Given the description of an element on the screen output the (x, y) to click on. 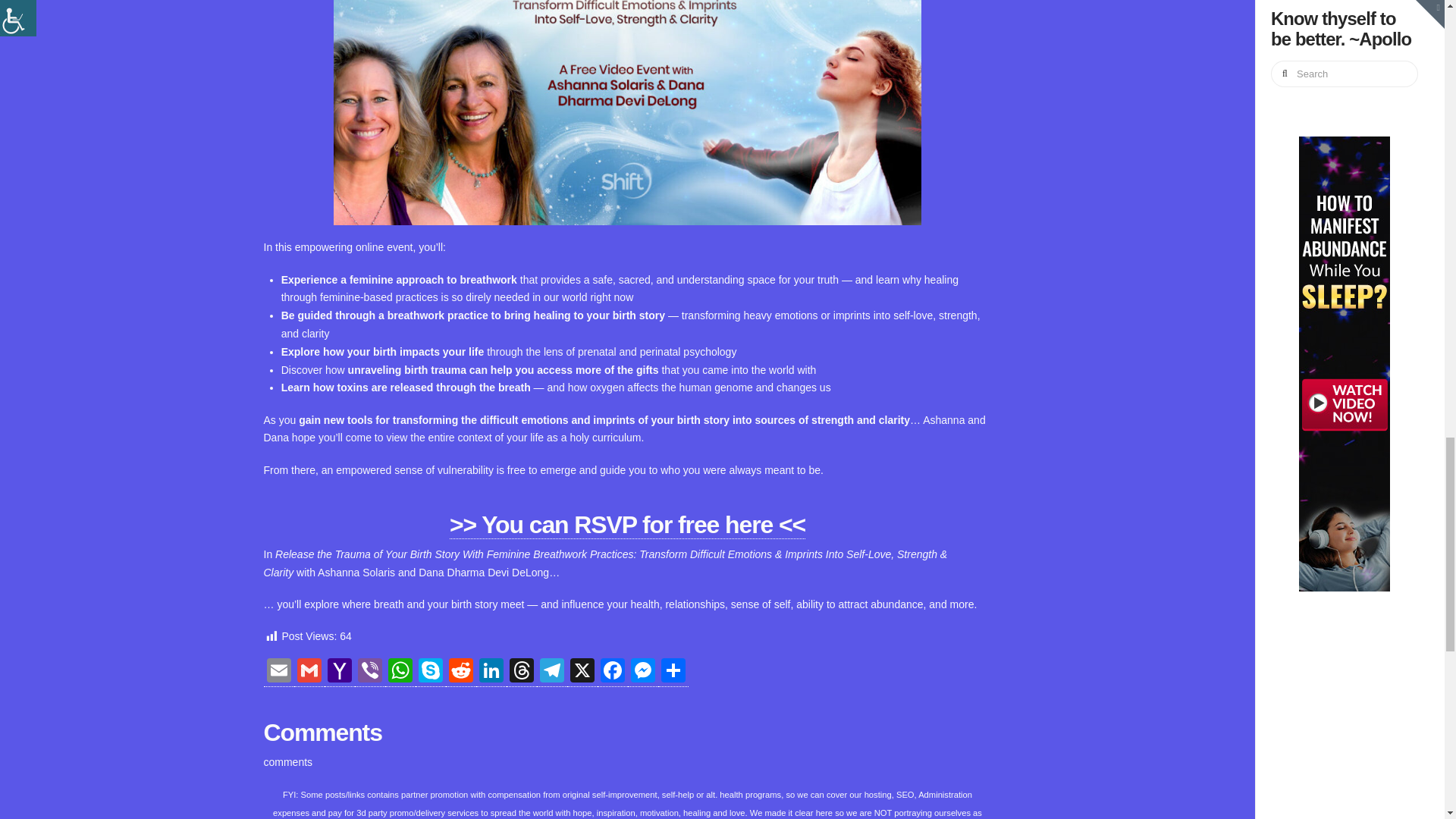
WhatsApp (399, 672)
Yahoo Mail (339, 672)
Viber (370, 672)
Gmail (309, 672)
Email (278, 672)
